Given the description of an element on the screen output the (x, y) to click on. 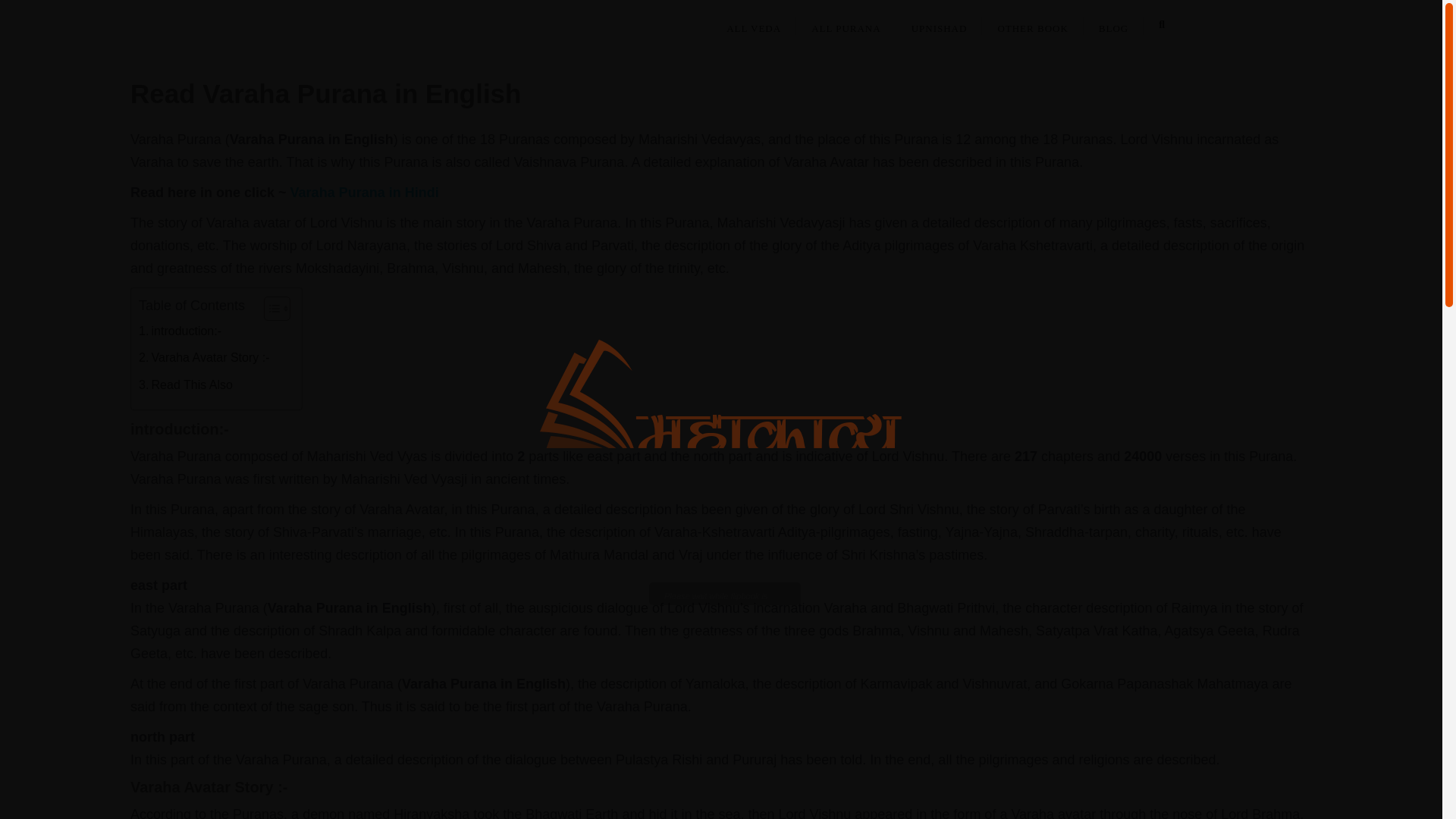
BLOG (1112, 24)
Varaha Purana in Hindi (364, 192)
UPNISHAD (939, 24)
ALL PURANA (846, 24)
introduction:- (179, 334)
ALL VEDA (753, 24)
OTHER BOOK (1032, 24)
introduction:- (179, 334)
DearFlip WordPress Flipbook Plugin Help (718, 663)
Read This Also (185, 388)
